Given the description of an element on the screen output the (x, y) to click on. 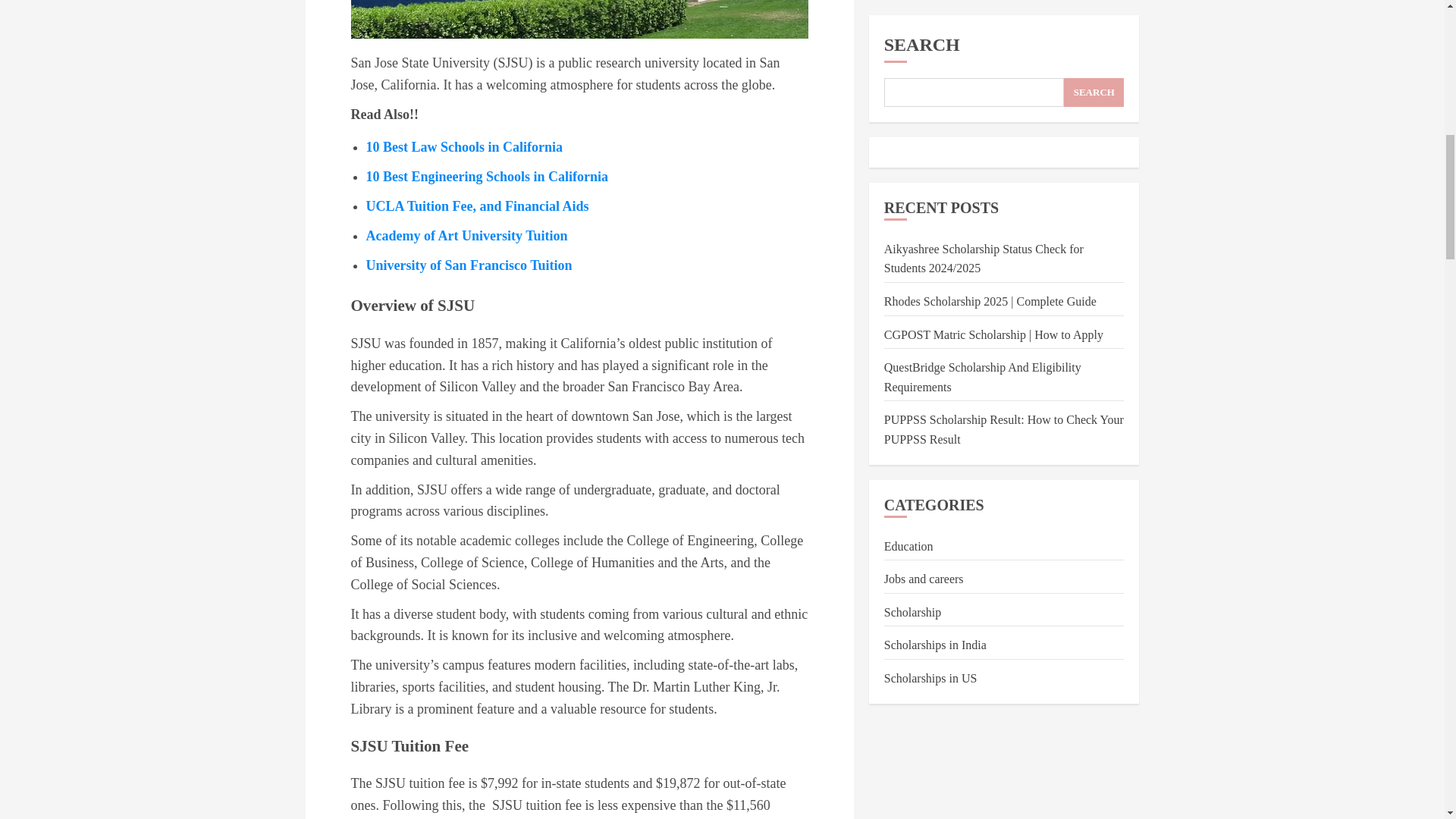
UCLA Tuition Fee, and Financial Aids (476, 206)
10 Best Engineering Schools in California (486, 176)
University of San Francisco Tuition (468, 264)
10 Best Law Schools in California (463, 146)
Academy of Art University Tuition (466, 235)
